Given the description of an element on the screen output the (x, y) to click on. 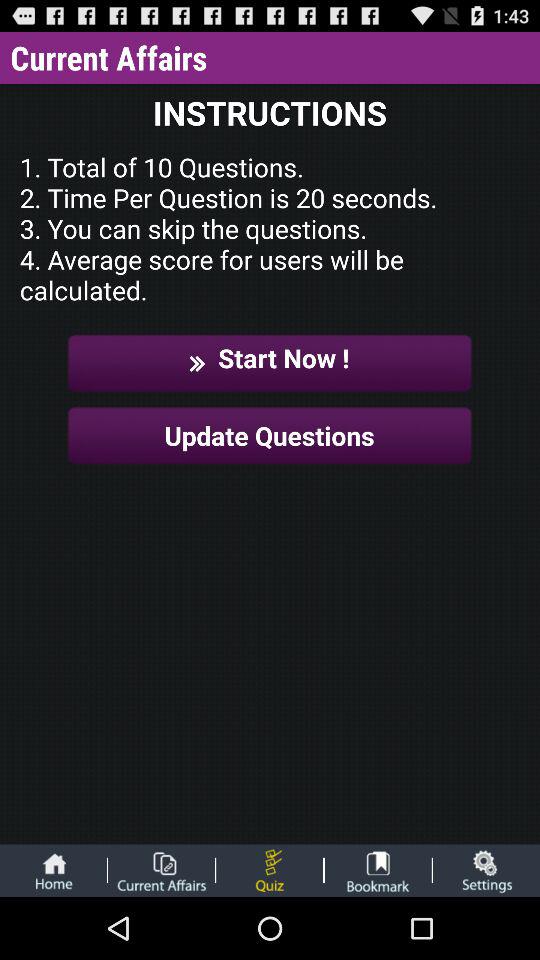
bookmark page (378, 870)
